Given the description of an element on the screen output the (x, y) to click on. 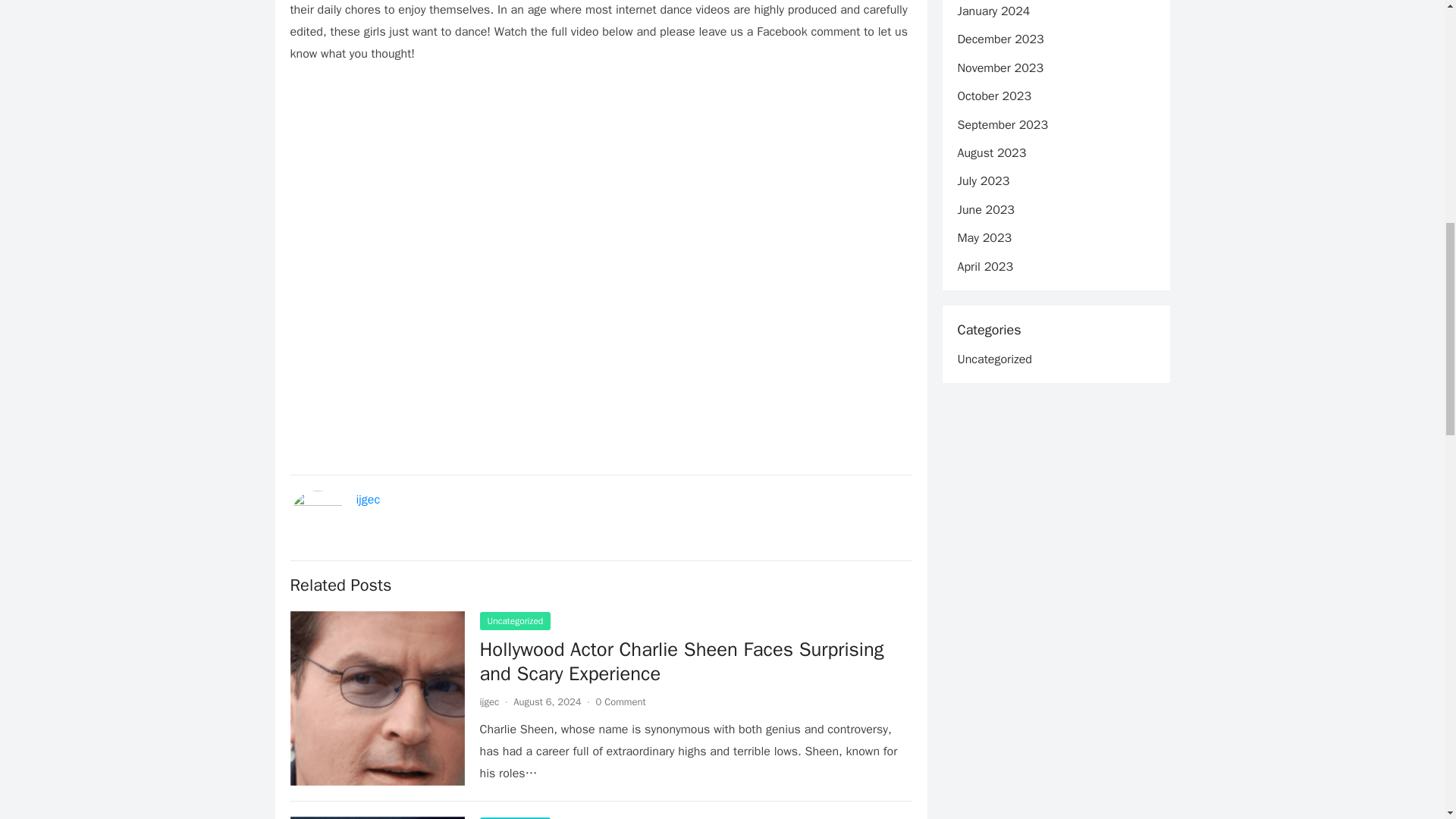
Posts by ijgec (489, 701)
Uncategorized (514, 620)
0 Comment (620, 701)
Uncategorized (514, 818)
ijgec (368, 499)
ijgec (489, 701)
